Given the description of an element on the screen output the (x, y) to click on. 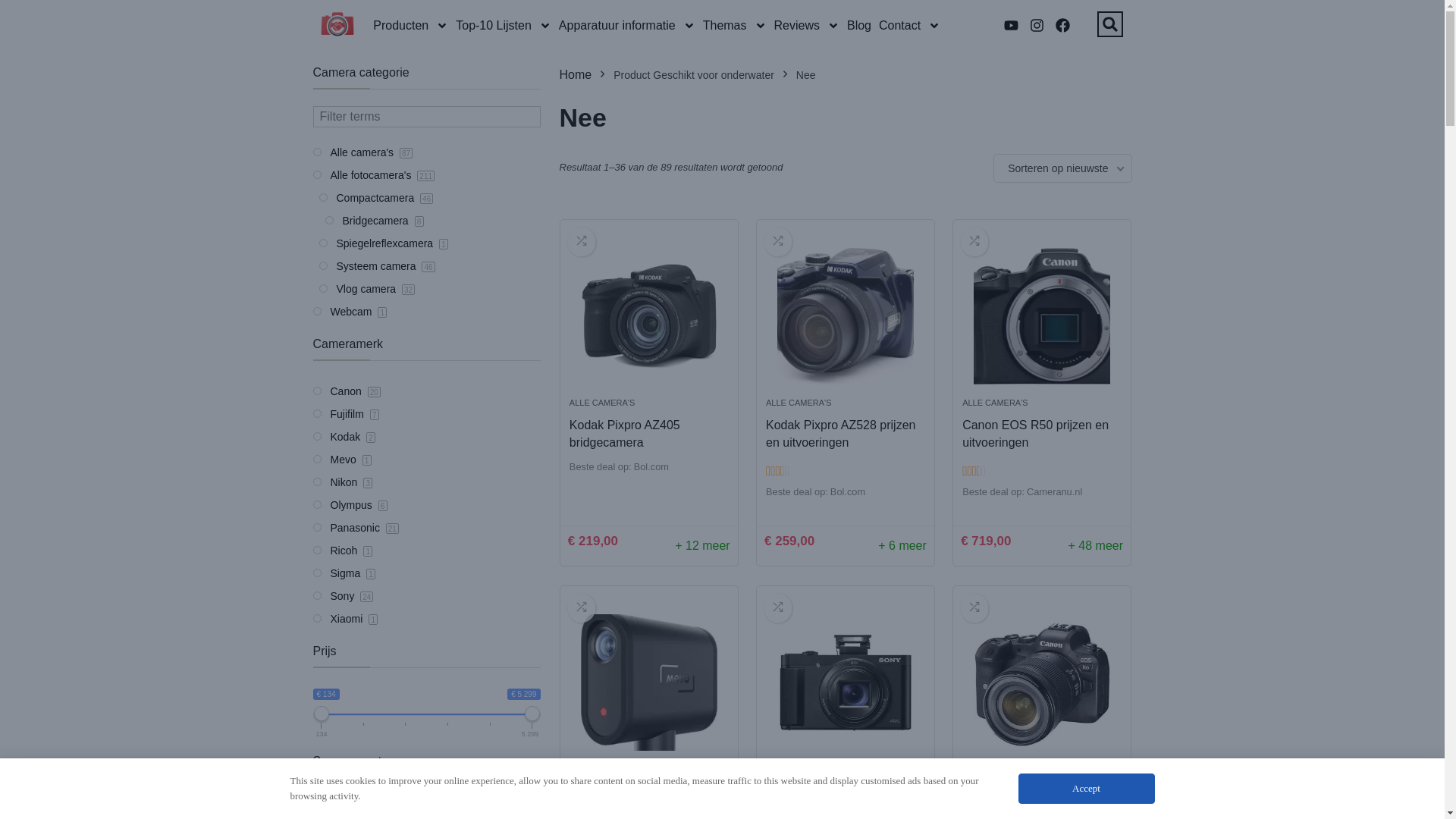
Blog Element type: text (859, 25)
Canon EOS R50 prijzen en uitvoeringen Element type: hover (1041, 315)
Sony Cybershot DSC-HX99 prijzen vinden Element type: text (840, 799)
Producten Element type: text (410, 25)
Sony Cybershot DSC-HX99 prijzen vinden Element type: hover (845, 682)
ALLE CAMERA'S Element type: text (994, 768)
WEBCAM Element type: text (588, 768)
+ 6 meer Element type: text (902, 545)
ALLE CAMERA'S Element type: text (601, 402)
Kodak Pixpro AZ528 prijzen en uitvoeringen Element type: hover (845, 315)
Canon EOS R50 prijzen en uitvoeringen Element type: text (1035, 433)
Canon EOS R6 + RF 24-105MM f/4-7.1 IS STM Element type: hover (1041, 682)
Top-10 Lijsten Element type: text (503, 25)
ALLE CAMERA'S Element type: text (994, 402)
Kodak Pixpro AZ405 bridgecamera Element type: text (624, 433)
Home Element type: text (575, 74)
ALLE CAMERA'S Element type: text (798, 402)
Contact Element type: text (909, 25)
ALLE CAMERA'S Element type: text (798, 768)
+ 48 meer Element type: text (1095, 545)
Logitech Mevo Start streaming camera prijzen en review Element type: hover (648, 682)
Kodak Pixpro AZ405 bridgecamera Element type: hover (648, 315)
Canon EOS R6 + RF 24-105MM f/4-7.1 IS STM Element type: text (1029, 799)
Themas Element type: text (734, 25)
+ 12 meer Element type: text (701, 545)
Kodak Pixpro AZ528 prijzen en uitvoeringen Element type: text (840, 433)
Reviews Element type: text (806, 25)
Apparatuur informatie Element type: text (627, 25)
